Given the description of an element on the screen output the (x, y) to click on. 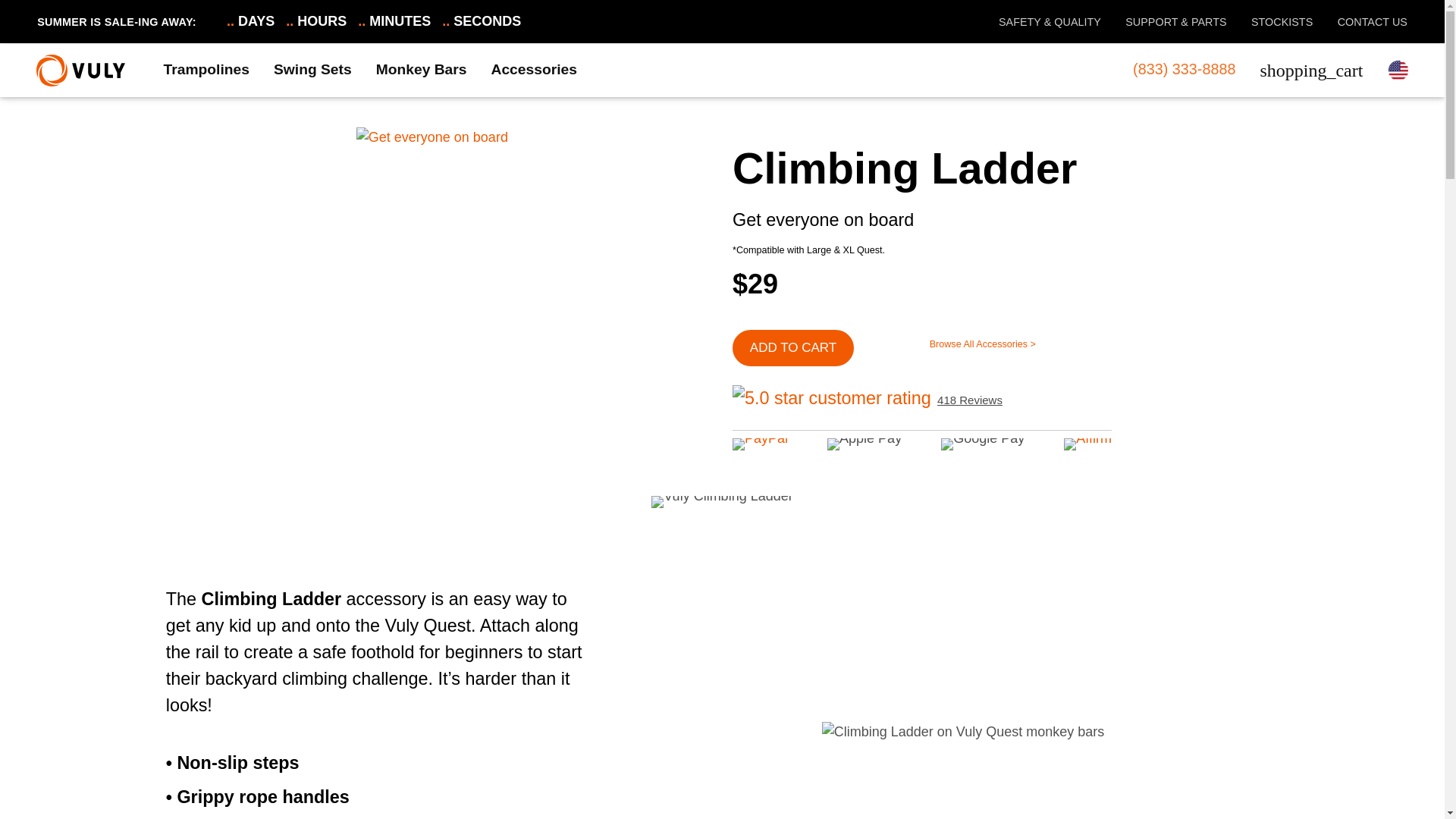
STOCKISTS (1270, 21)
CONTACT US (1360, 21)
Swing Sets (313, 69)
Trampolines (206, 69)
Monkey Bars (421, 69)
